Given the description of an element on the screen output the (x, y) to click on. 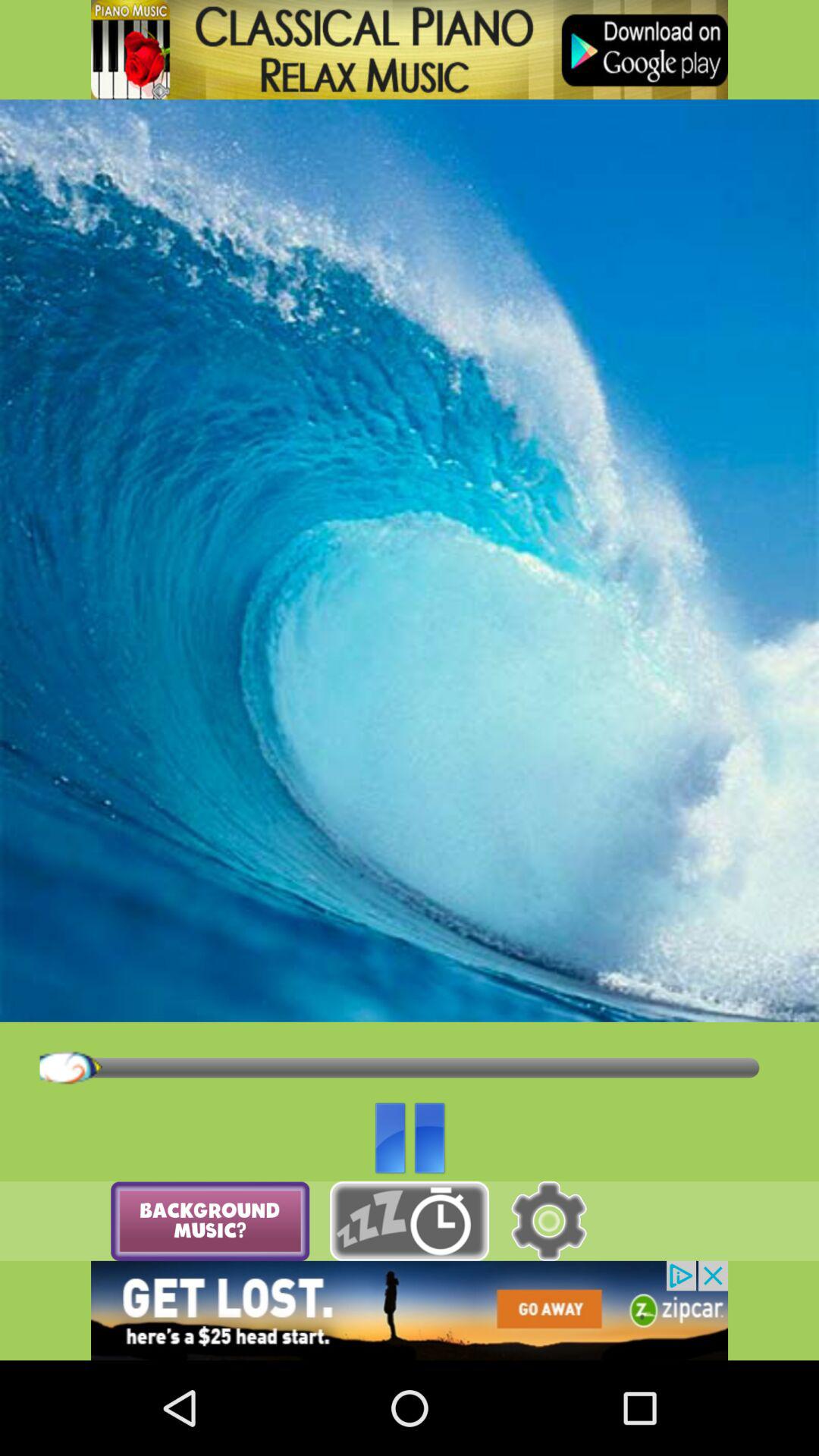
view the advertisement at top (409, 49)
